Given the description of an element on the screen output the (x, y) to click on. 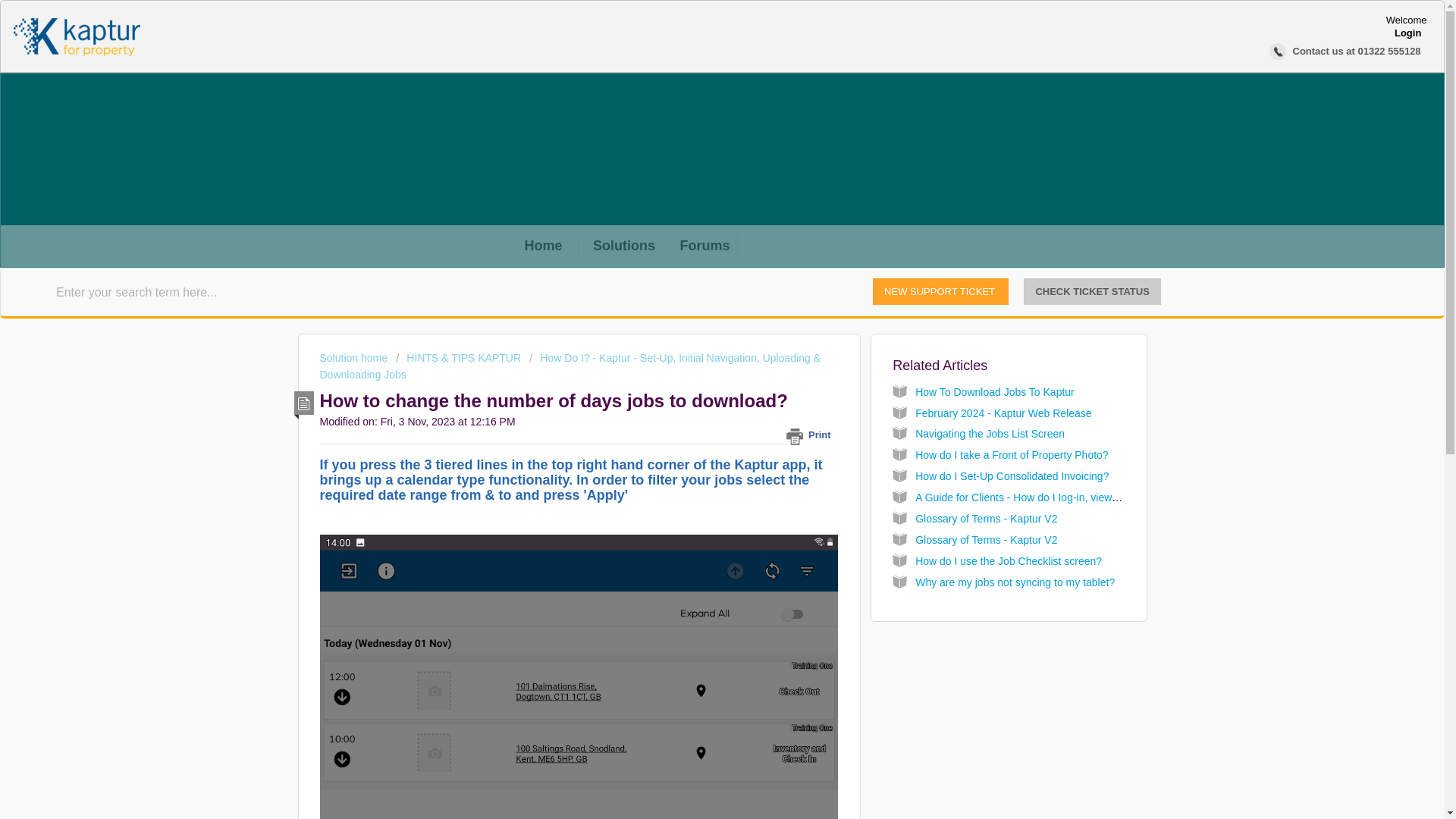
Print this Article (812, 434)
Solutions (623, 245)
How do I take a Front of Property Photo? (1011, 454)
Login (1407, 32)
How do I use the Job Checklist screen? (1008, 561)
How To Download Jobs To Kaptur (994, 391)
Glossary of Terms - Kaptur V2 (986, 518)
Forums (704, 245)
A Guide for Clients - How do I Iog-in, view and add jobs? (1047, 497)
Why are my jobs not syncing to my tablet? (1015, 582)
